Given the description of an element on the screen output the (x, y) to click on. 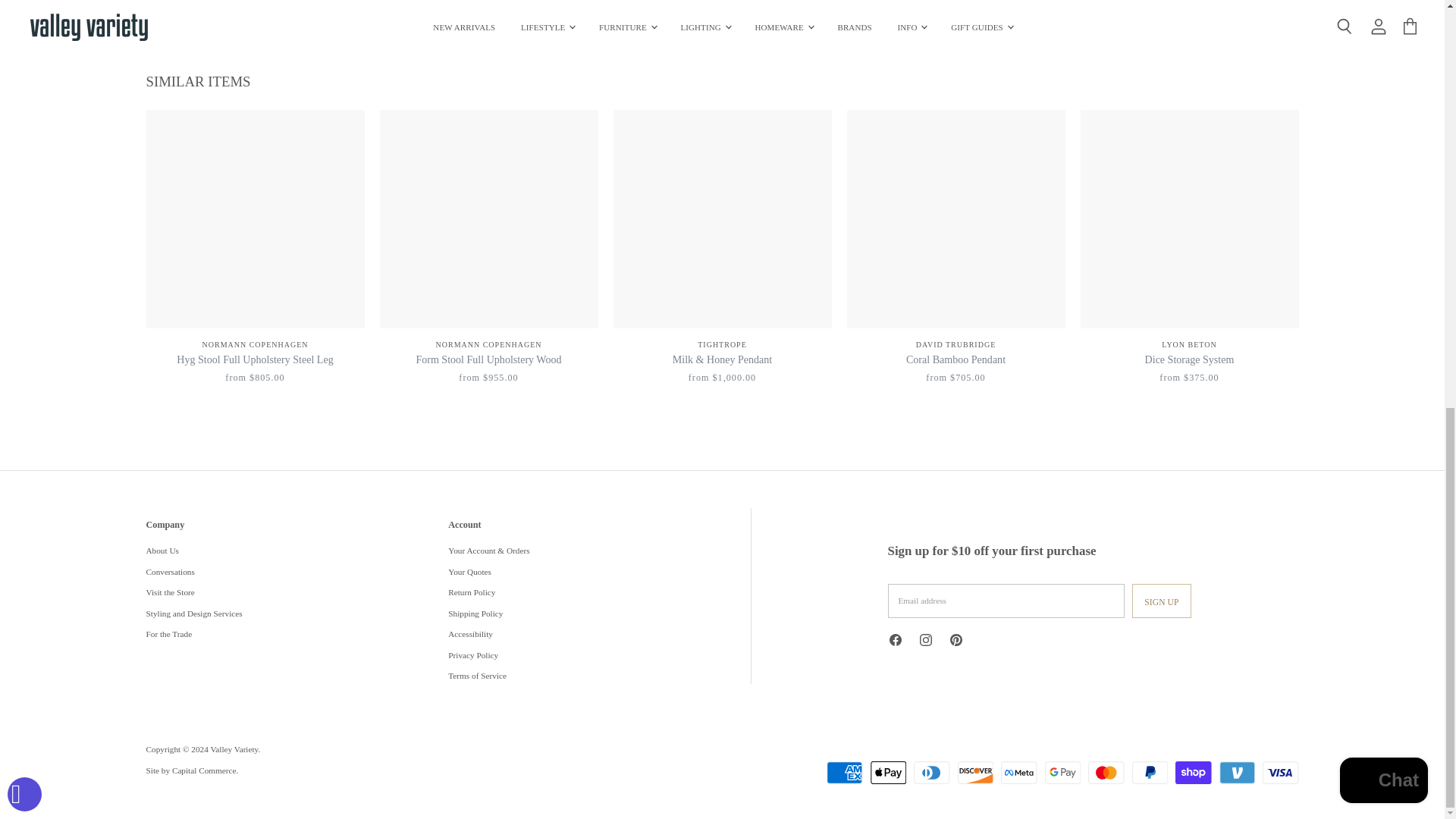
Facebook (897, 642)
Cellphone icon (359, 4)
Pinterest (958, 642)
Instagram (928, 642)
Chat icon (623, 4)
Refund Policy (975, 2)
Pin icon (877, 4)
Shipping Policy (721, 2)
Visit the Store (482, 2)
